Given the description of an element on the screen output the (x, y) to click on. 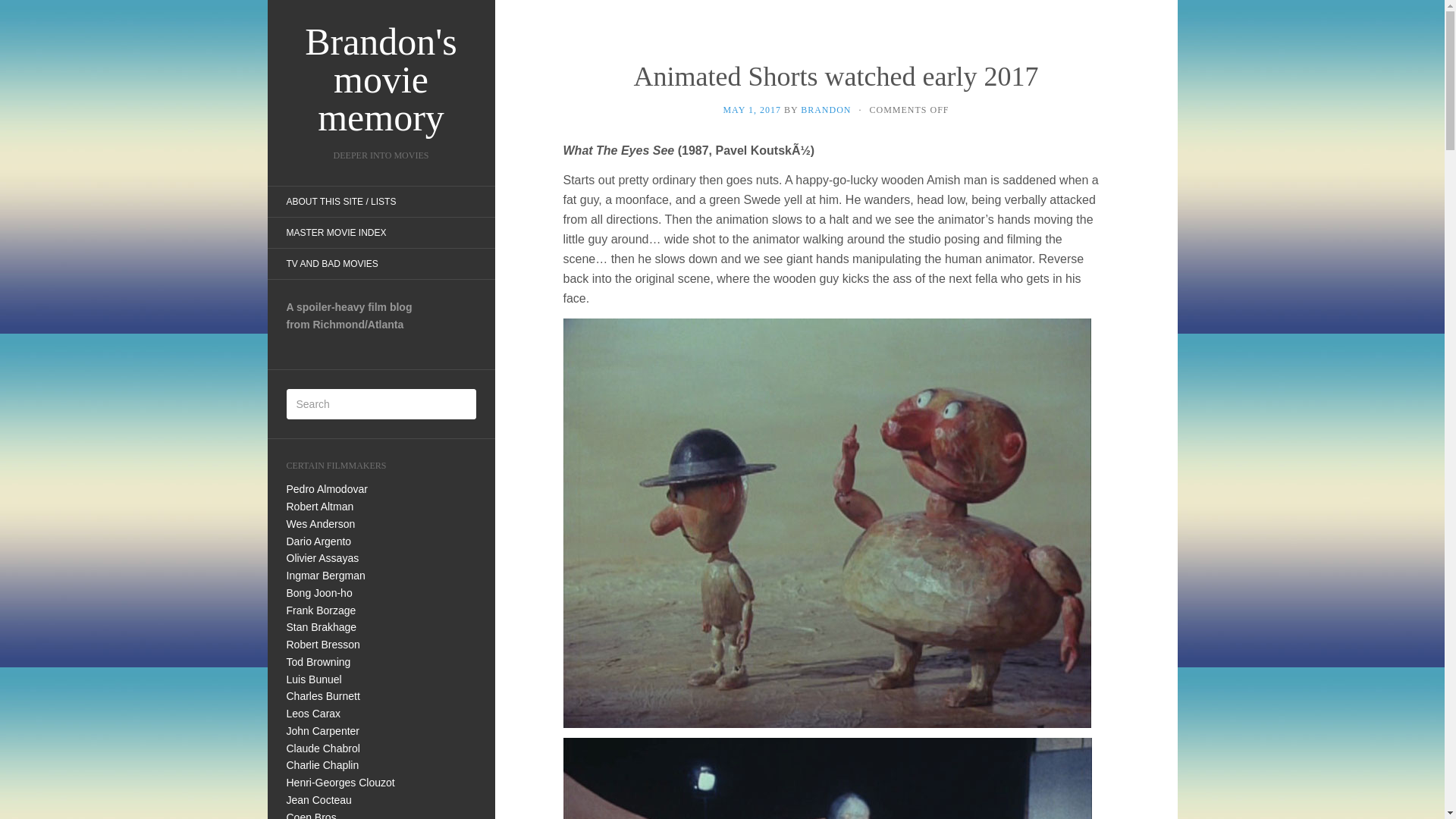
Dario Argento (319, 541)
Coen Bros. (312, 815)
Charlie Chaplin (322, 765)
Robert Bresson (322, 644)
Robert Altman (319, 506)
Wes Anderson (320, 523)
John Carpenter (322, 730)
MASTER MOVIE INDEX (335, 232)
Henri-Georges Clouzot (340, 782)
Bong Joon-ho (319, 592)
Charles Burnett (322, 695)
Leos Carax (313, 713)
Frank Borzage (321, 609)
Claude Chabrol (322, 747)
Stan Brakhage (321, 626)
